Given the description of an element on the screen output the (x, y) to click on. 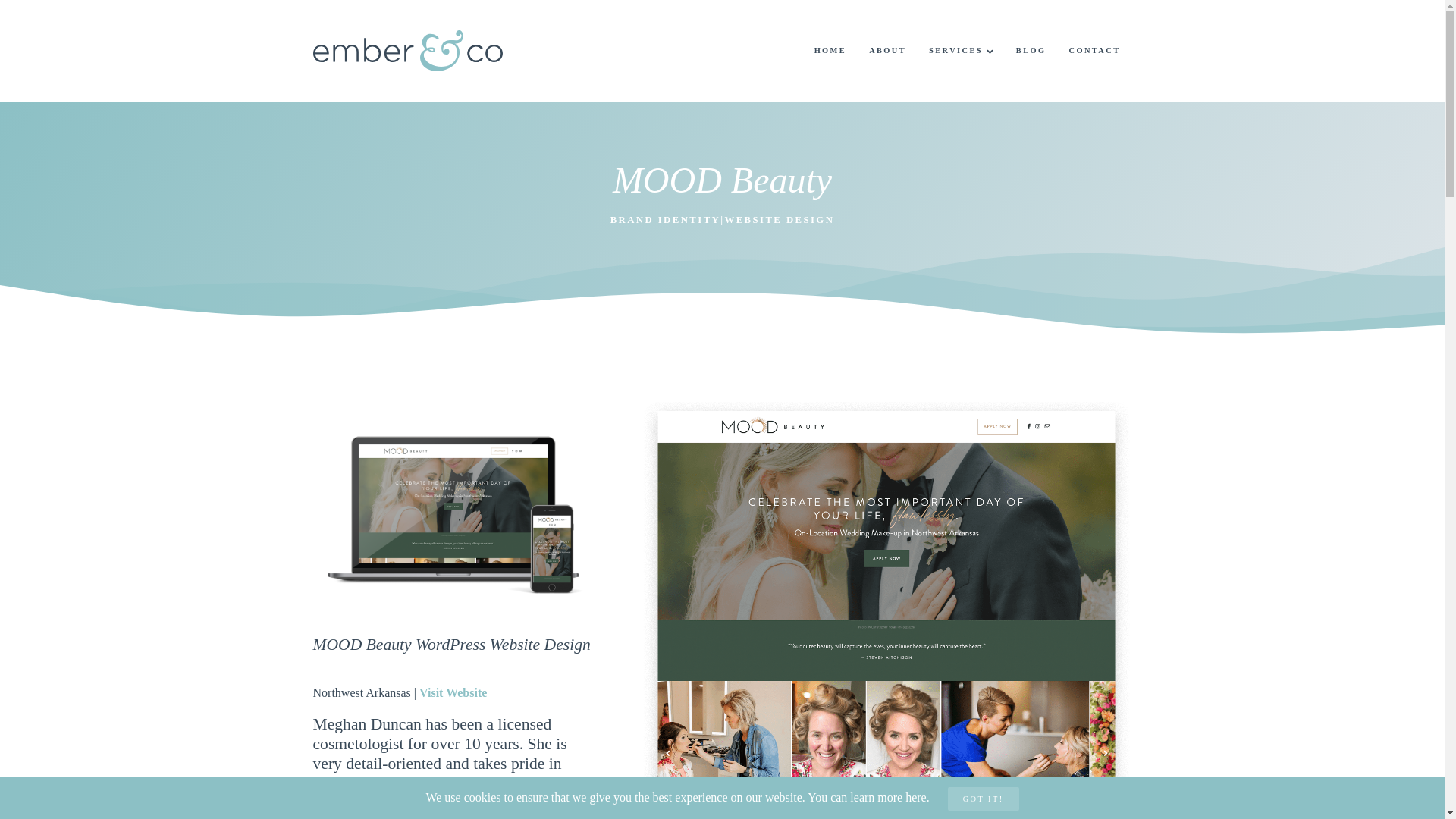
SERVICES (960, 50)
CONTACT (1094, 50)
here (915, 797)
ABOUT (887, 50)
HOME (831, 50)
BRAND IDENTITY (665, 219)
GOT IT! (983, 798)
Visit Website (452, 692)
BLOG (1031, 50)
WEBSITE DESIGN (778, 219)
